Given the description of an element on the screen output the (x, y) to click on. 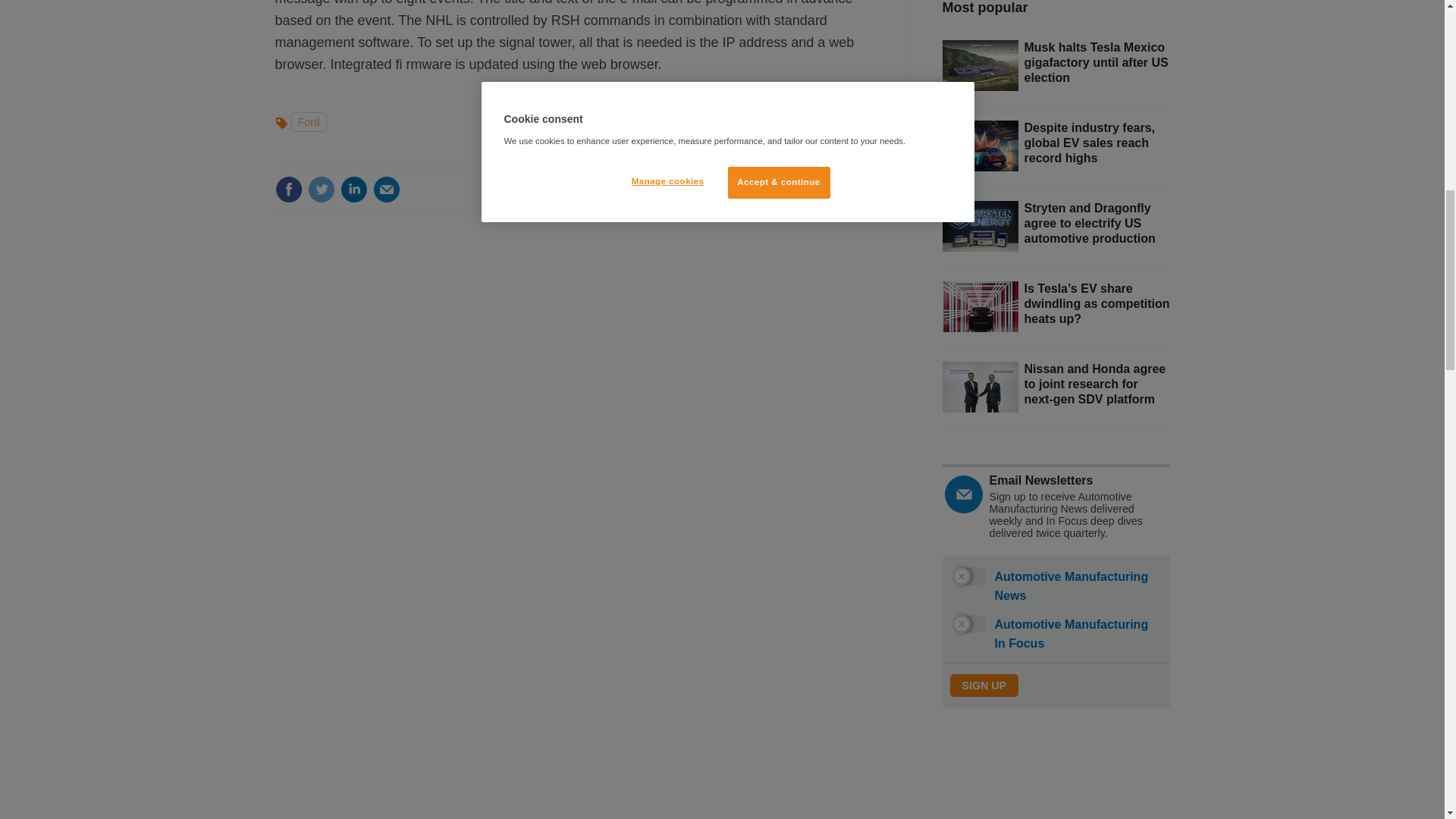
3rd party ad content (1055, 781)
Email this article (386, 189)
Share this on Facebook (288, 189)
Share this on Twitter (320, 189)
Share this on Linked in (352, 189)
